Given the description of an element on the screen output the (x, y) to click on. 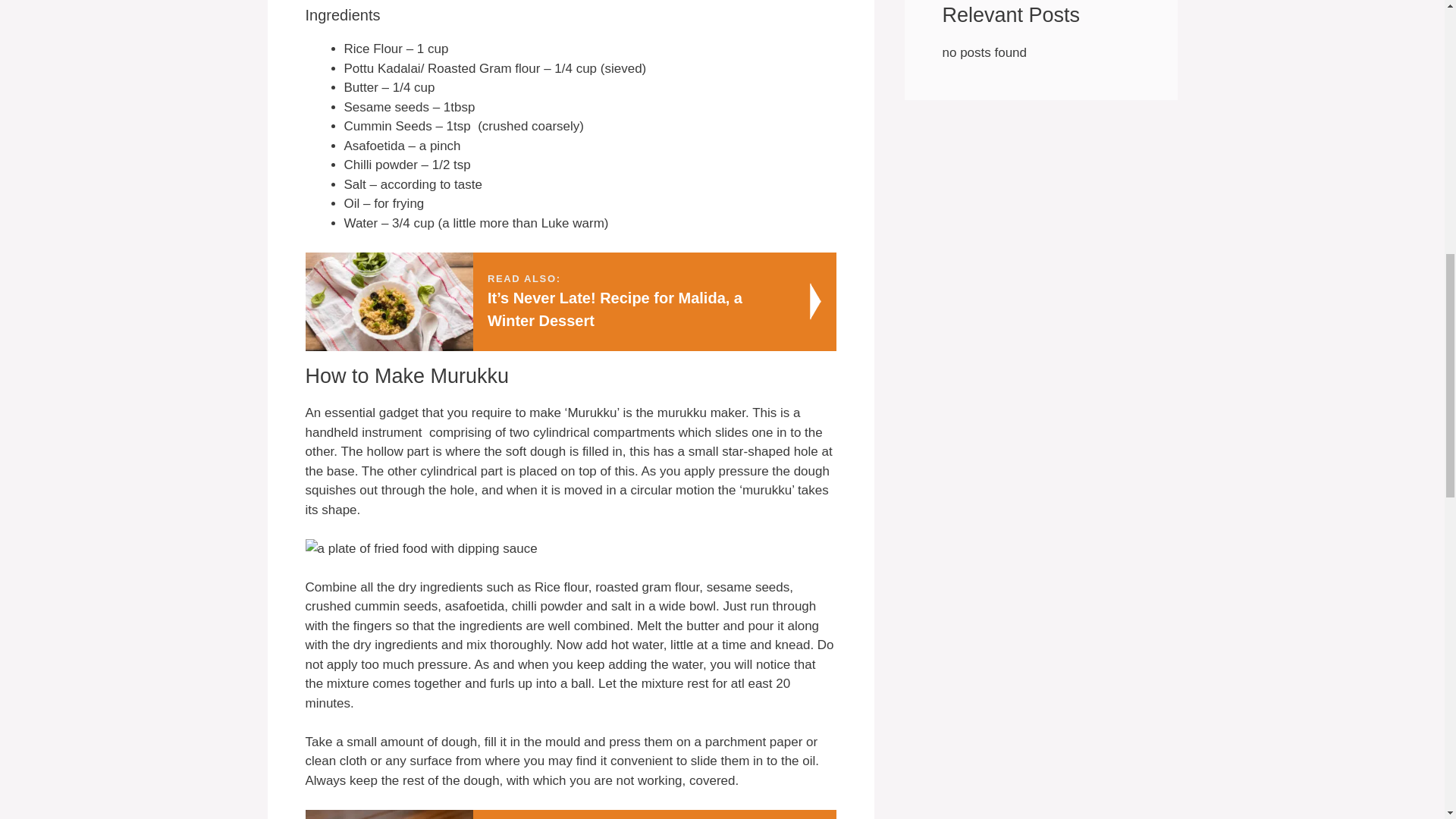
Mullu Murukku Recipe (569, 814)
